Given the description of an element on the screen output the (x, y) to click on. 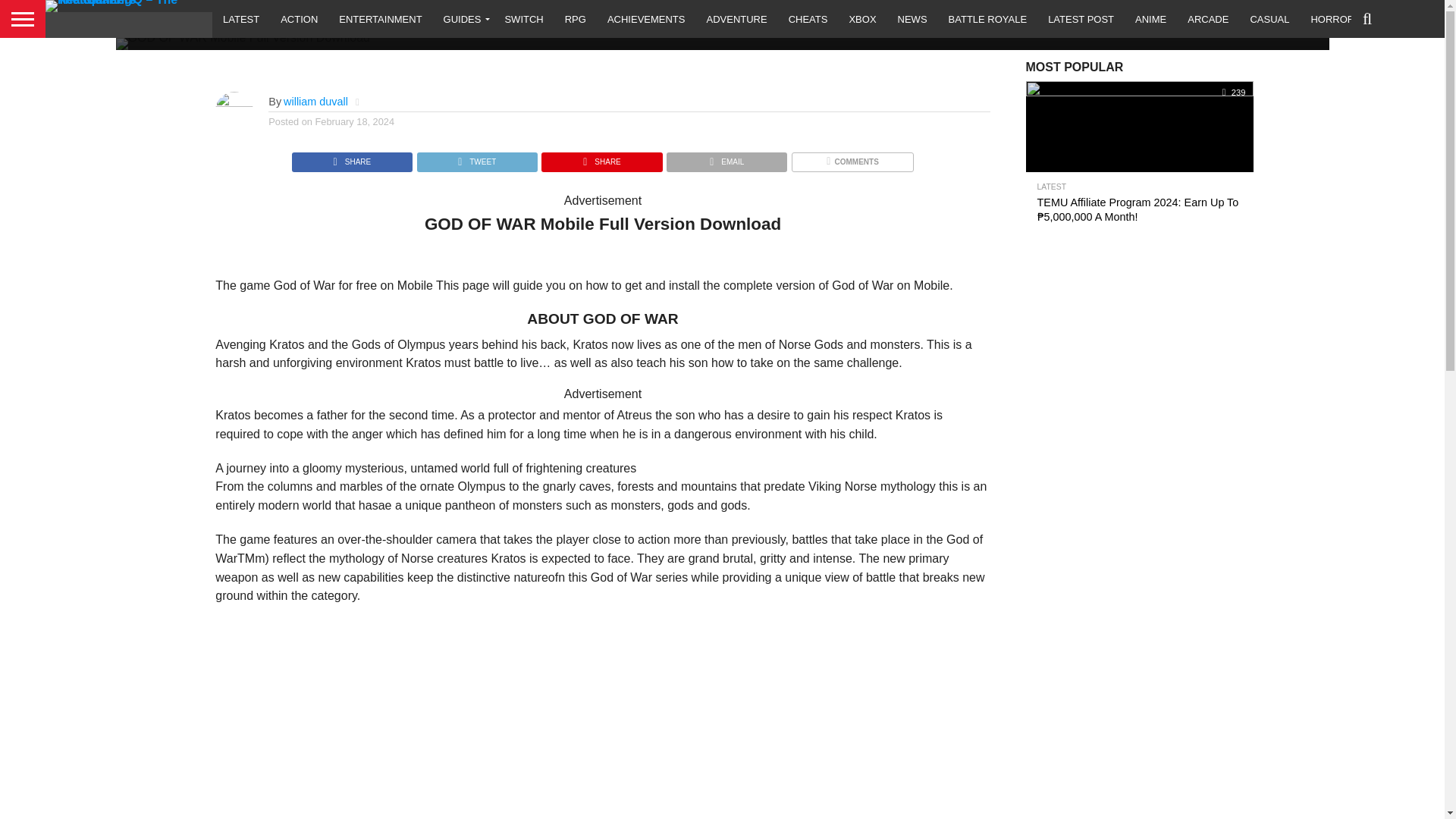
BATTLE ROYALE (987, 18)
RPG (575, 18)
LATEST POST (1080, 18)
ACHIEVEMENTS (645, 18)
GUIDES (463, 18)
LATEST (240, 18)
CASUAL (1269, 18)
STRATEGY (1401, 18)
ADVENTURE (736, 18)
Pin This Post (601, 157)
ENTERTAINMENT (380, 18)
HORROR (1332, 18)
Tweet This Post (476, 157)
Share on Facebook (352, 157)
Posts by william duvall (315, 101)
